Given the description of an element on the screen output the (x, y) to click on. 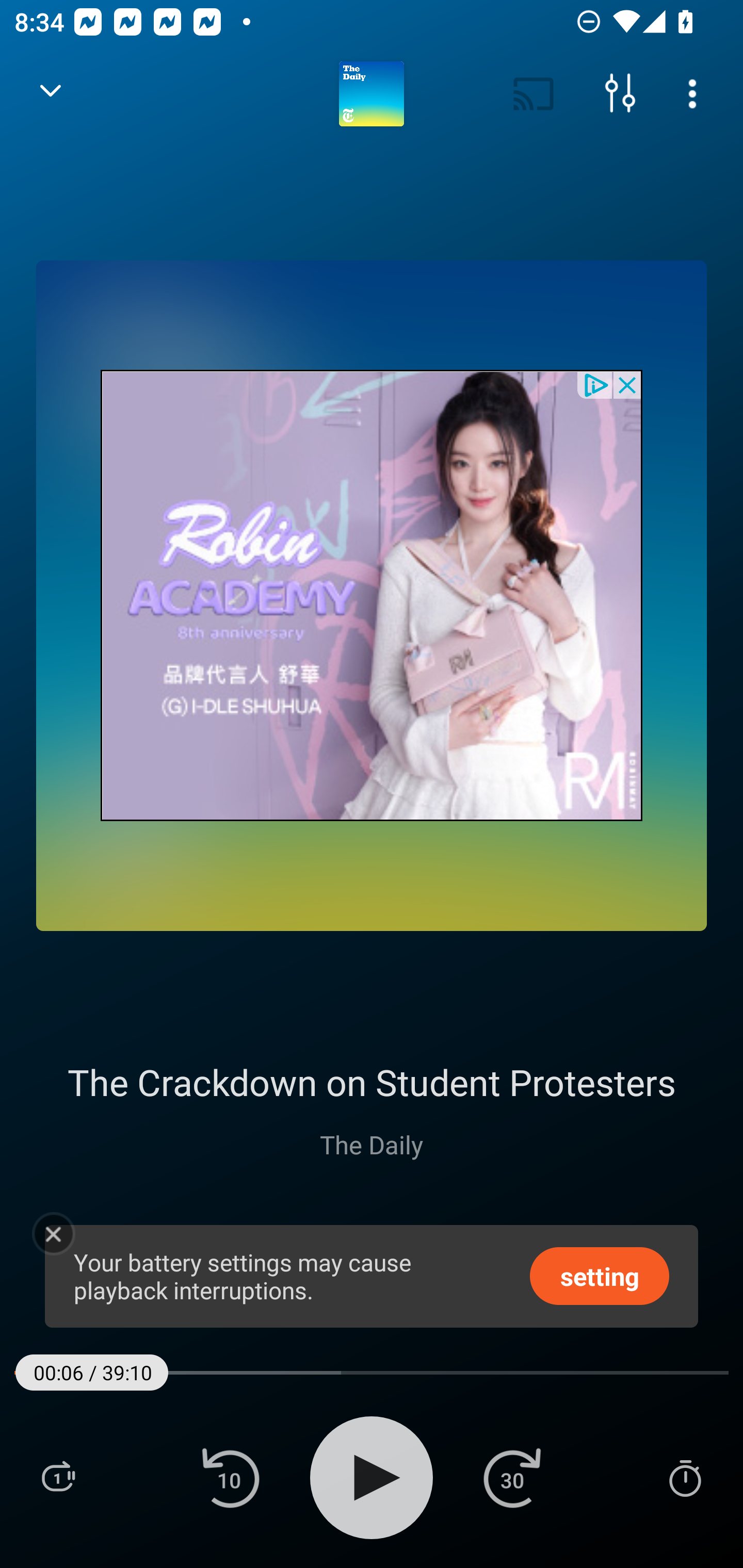
Cast. Disconnected (533, 93)
 Back (50, 94)
privacy_small (595, 384)
close_button (627, 384)
The Crackdown on Student Protesters (371, 1081)
The Daily (371, 1144)
setting (599, 1275)
 Playlist (57, 1477)
Sleep Timer  (684, 1477)
